Given the description of an element on the screen output the (x, y) to click on. 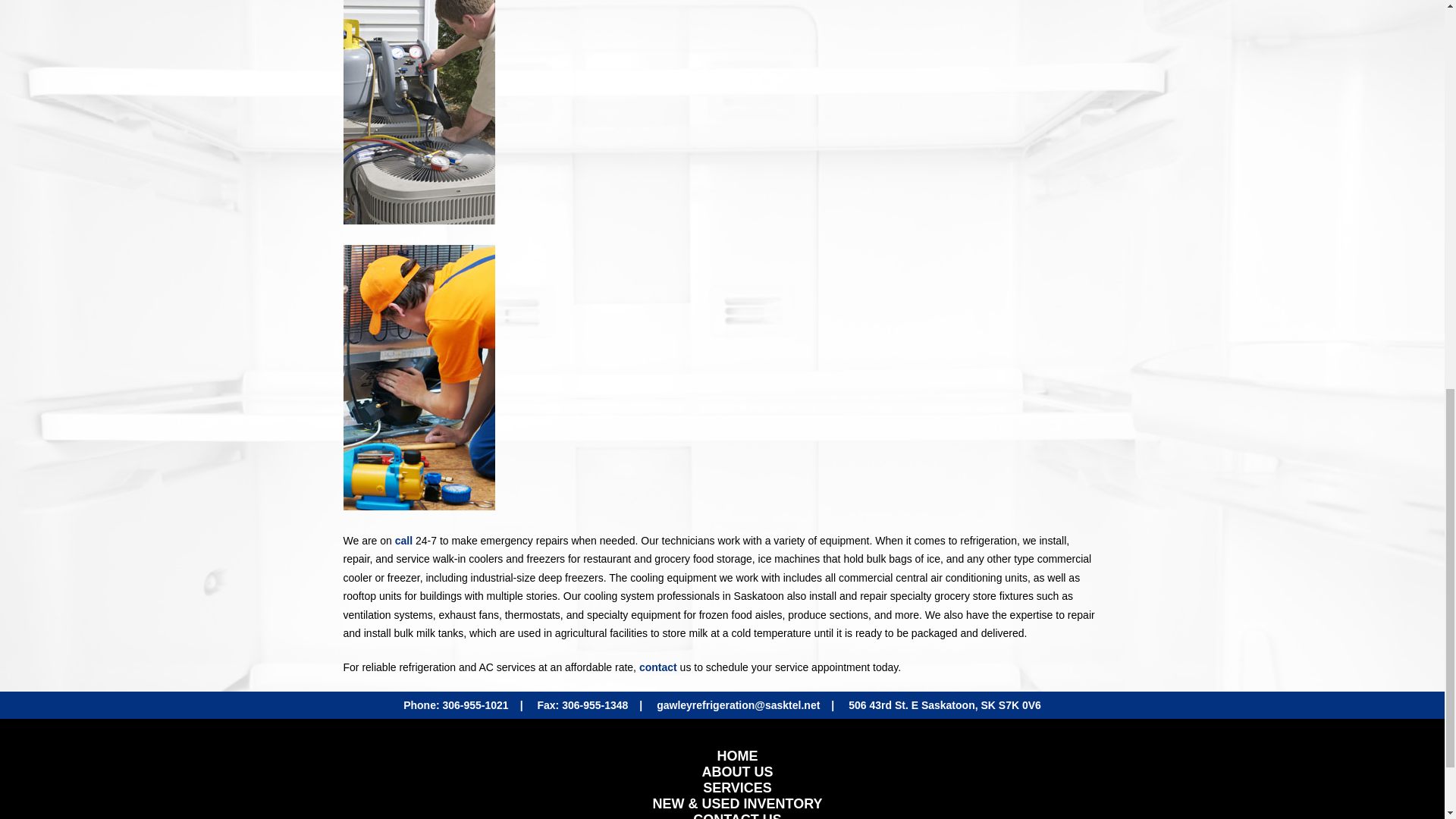
call (403, 539)
CONTACT US (737, 815)
ABOUT US (738, 771)
SERVICES (737, 787)
Phone: 306-955-1021 (455, 705)
Fax: 306-955-1348 (582, 705)
HOME (737, 755)
contact (658, 666)
